Given the description of an element on the screen output the (x, y) to click on. 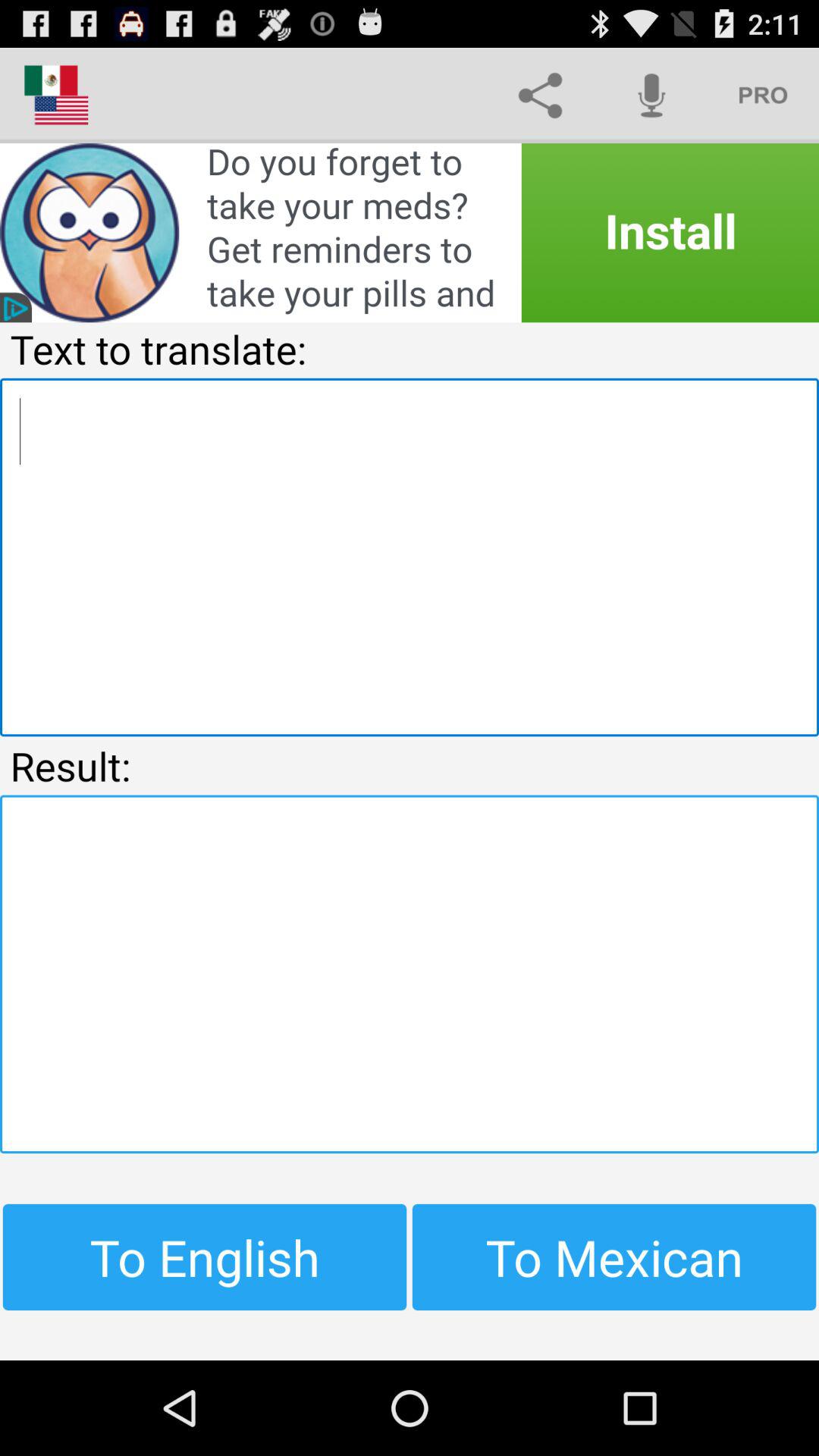
click the item next to to mexican (204, 1257)
